Given the description of an element on the screen output the (x, y) to click on. 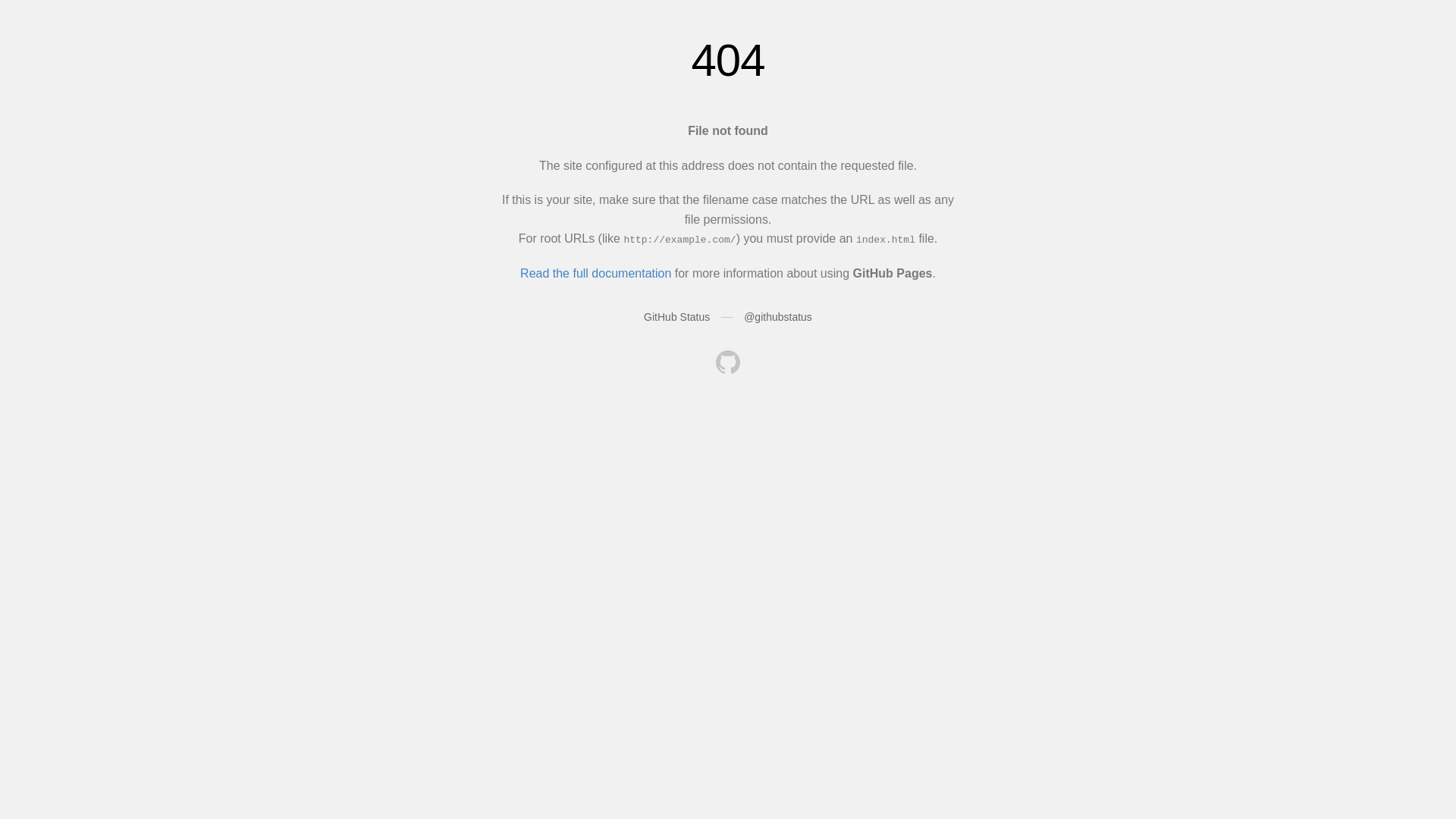
@githubstatus Element type: text (777, 316)
GitHub Status Element type: text (676, 316)
Read the full documentation Element type: text (595, 272)
